Given the description of an element on the screen output the (x, y) to click on. 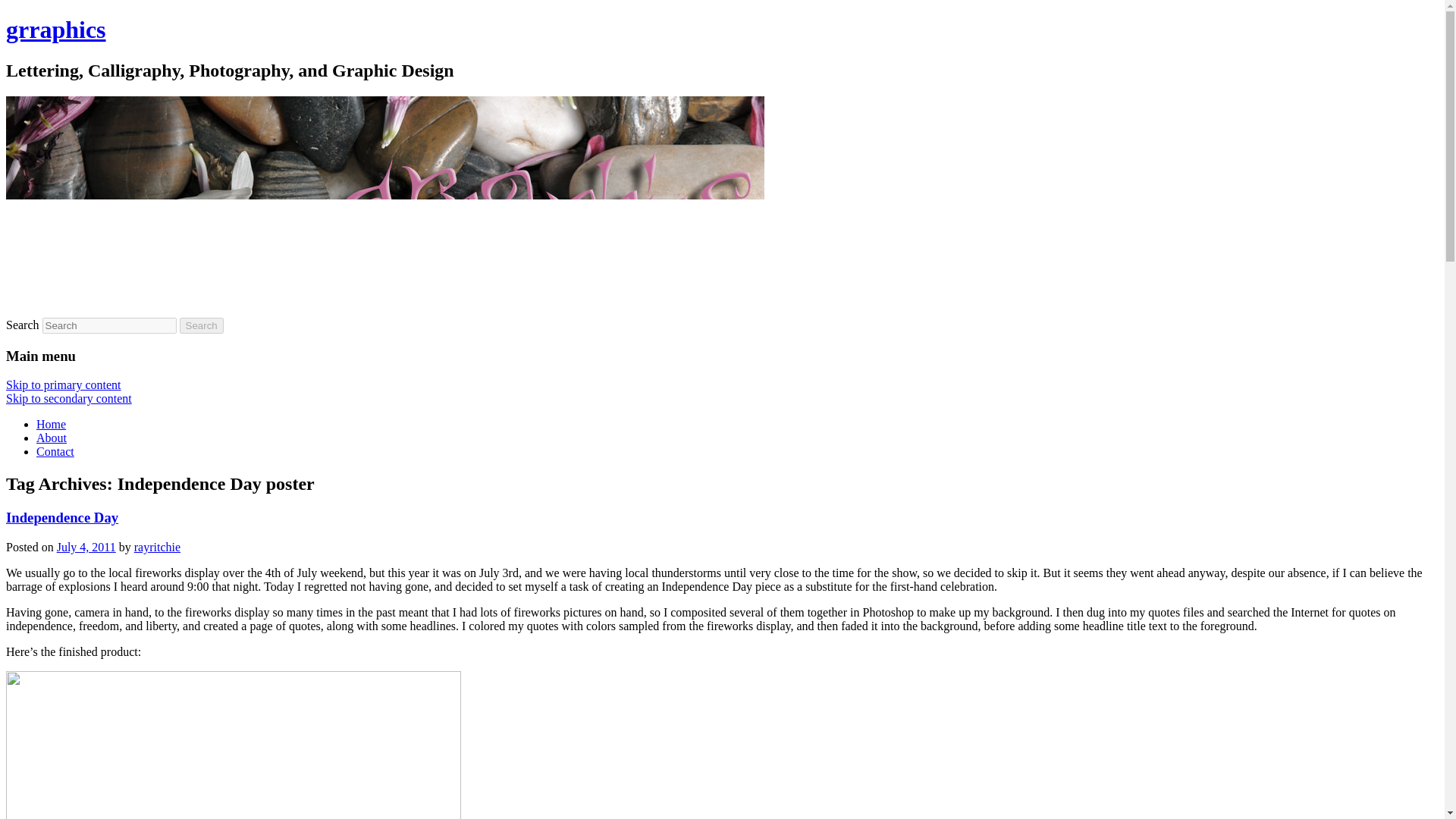
Skip to primary content (62, 384)
7:15 pm (86, 546)
Skip to secondary content (68, 398)
Search (201, 325)
Contact (55, 451)
View all posts by rayritchie (156, 546)
About (51, 437)
Skip to secondary content (68, 398)
Skip to primary content (62, 384)
grraphics (55, 29)
